Given the description of an element on the screen output the (x, y) to click on. 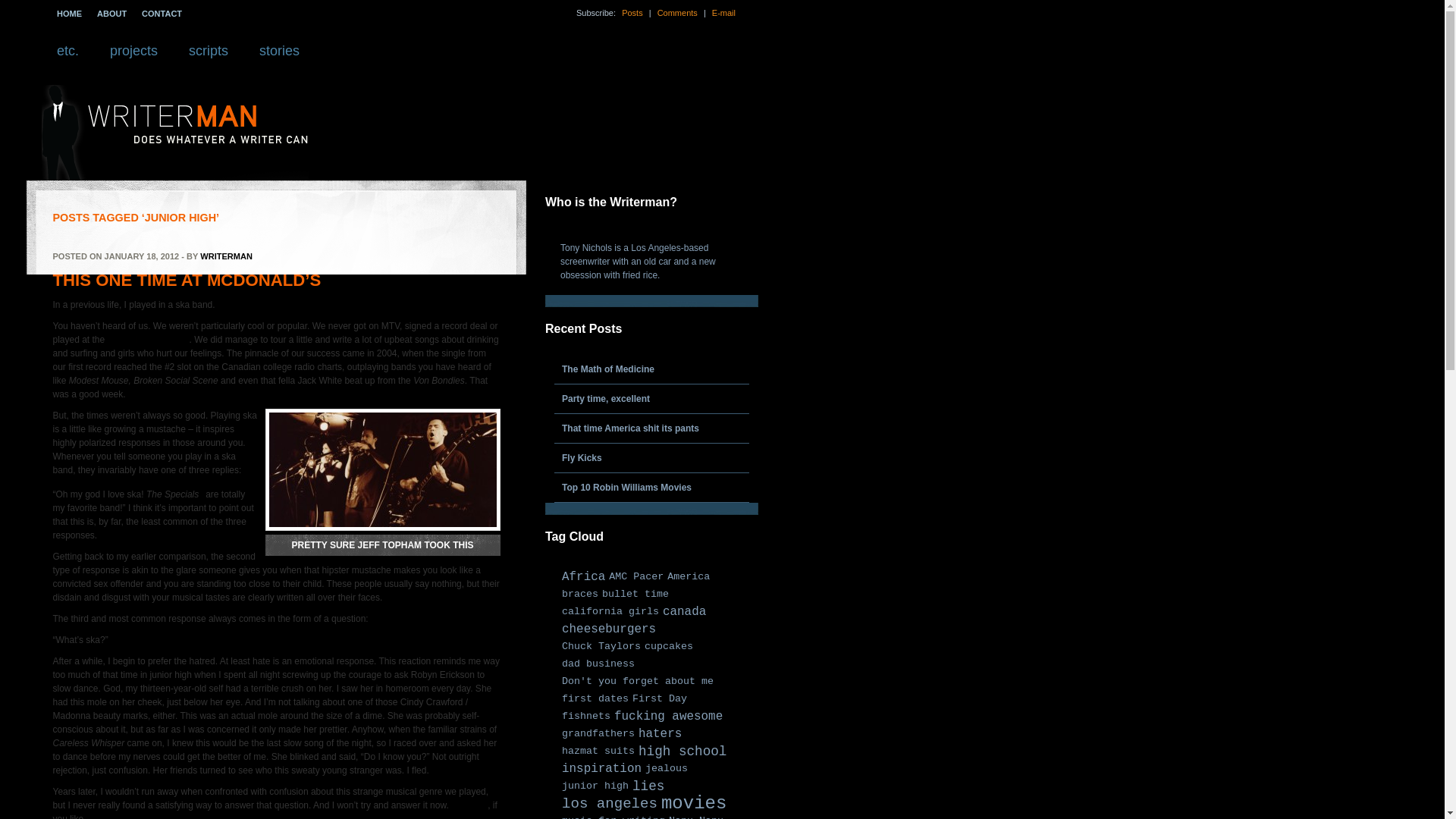
Peach Pit After Dark (148, 339)
canada (684, 612)
Google it (469, 805)
View Posts in "projects":  (133, 54)
That time America shit its pants (651, 427)
Comments (677, 12)
scripts (208, 54)
URL for comments RSS 2.0 Feed (677, 12)
does whatever a writer can (175, 176)
skatomatics1 (382, 469)
URL for Posts RSS 2.0 Feed (631, 12)
etc. (67, 54)
View Posts in "etc.":  (67, 54)
Posts by writerman (225, 256)
View Posts in "scripts":  (208, 54)
